Given the description of an element on the screen output the (x, y) to click on. 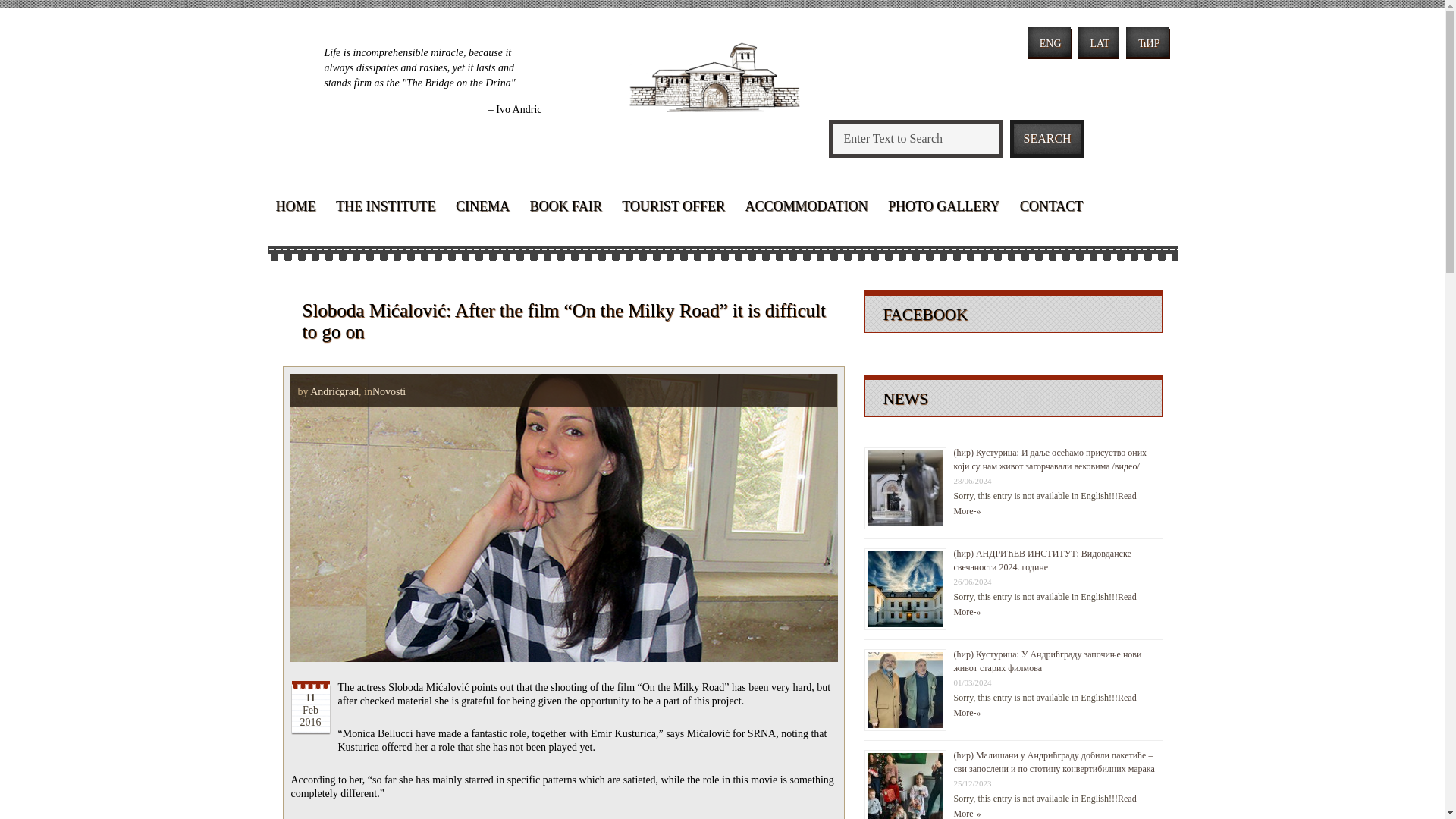
Eng (1048, 41)
Search (1040, 138)
ENG (1048, 41)
ACCOMMODATION (806, 209)
Search (1040, 138)
lat (1098, 41)
TOURIST OFFER (672, 209)
Novosti (389, 391)
Enter Text to Search (915, 138)
HOME (294, 209)
